Given the description of an element on the screen output the (x, y) to click on. 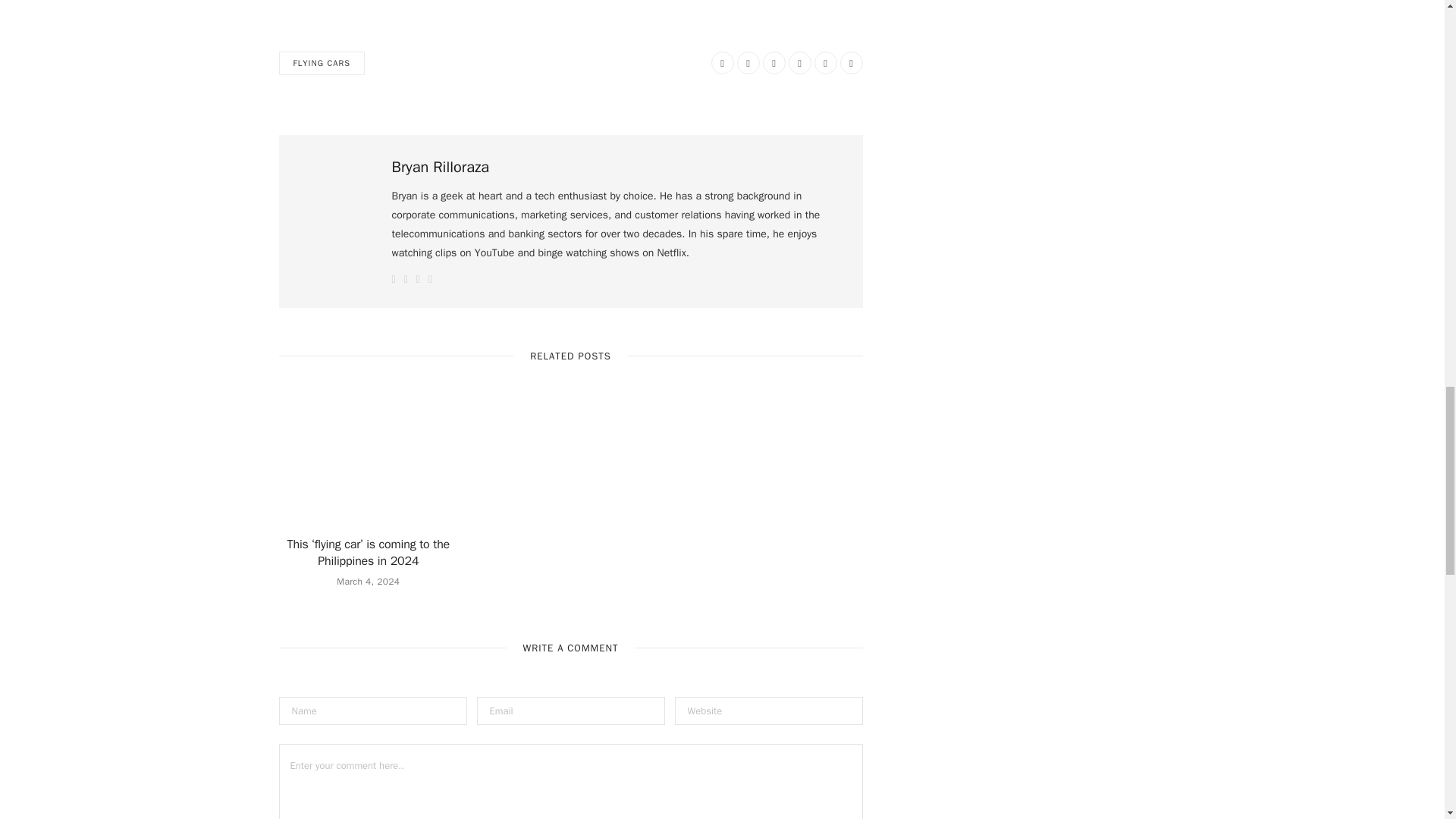
Bryan Rilloraza (440, 167)
FLYING CARS (322, 63)
Twitter (748, 62)
Facebook (722, 62)
Posts by Bryan Rilloraza (440, 167)
Reddit (774, 62)
Pinterest (799, 62)
Email (851, 62)
March 4, 2024 (367, 581)
LinkedIn (825, 62)
